Given the description of an element on the screen output the (x, y) to click on. 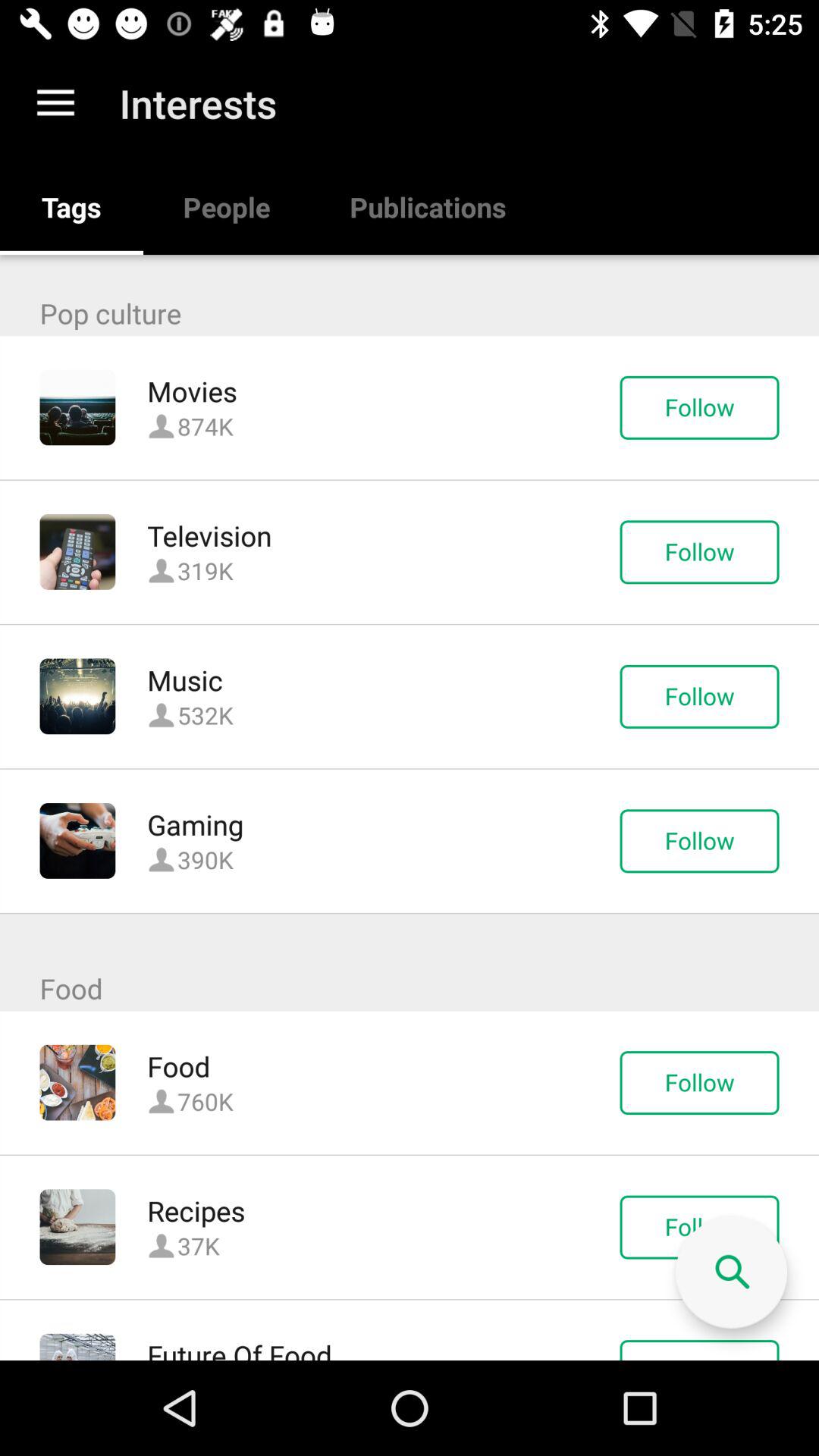
click on the follow button which is next to recipes (699, 1227)
click on follow which is right hand side of the text television (699, 552)
click on the search icon (731, 1273)
